Given the description of an element on the screen output the (x, y) to click on. 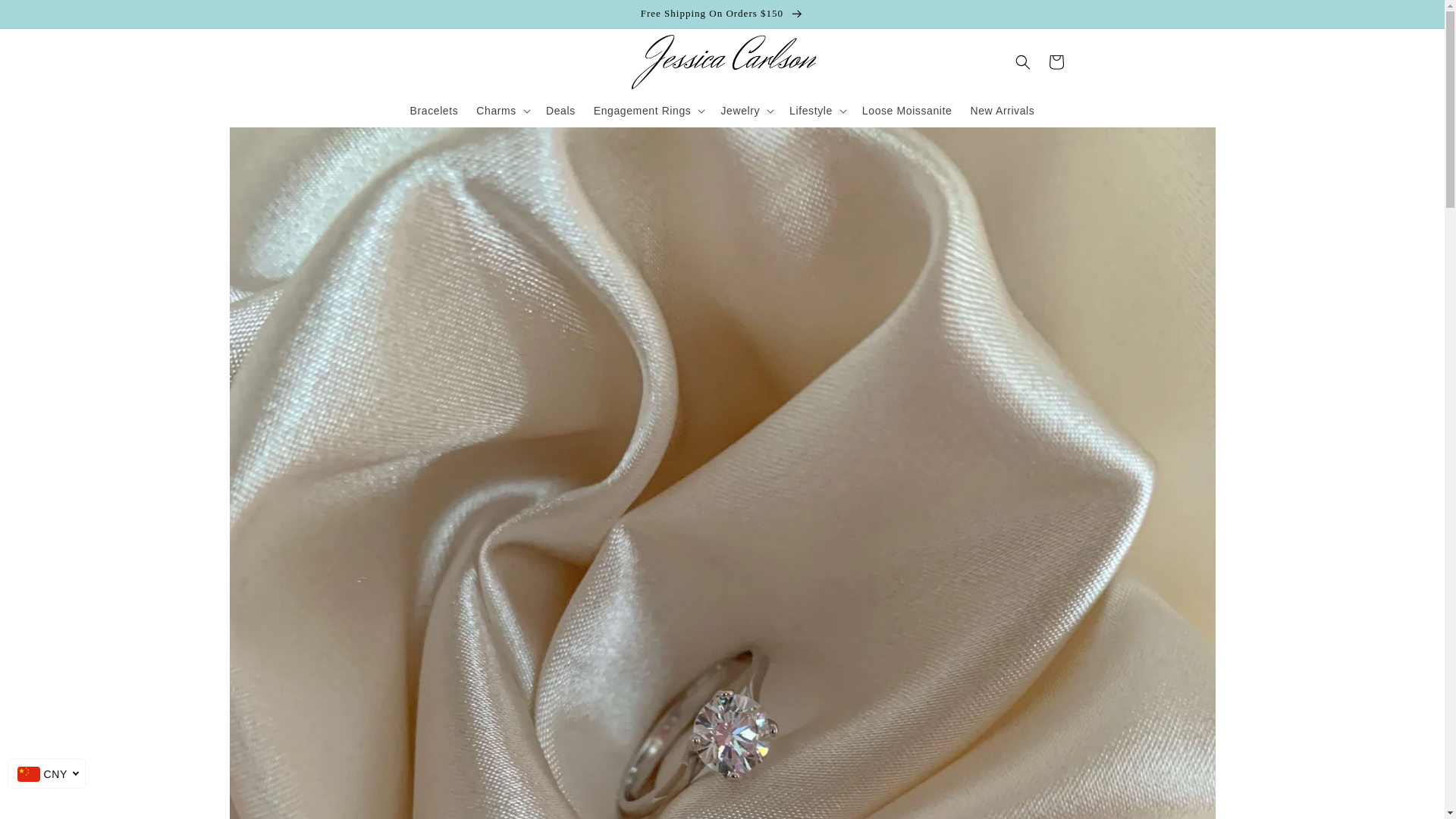
Skip to content (45, 17)
